Given the description of an element on the screen output the (x, y) to click on. 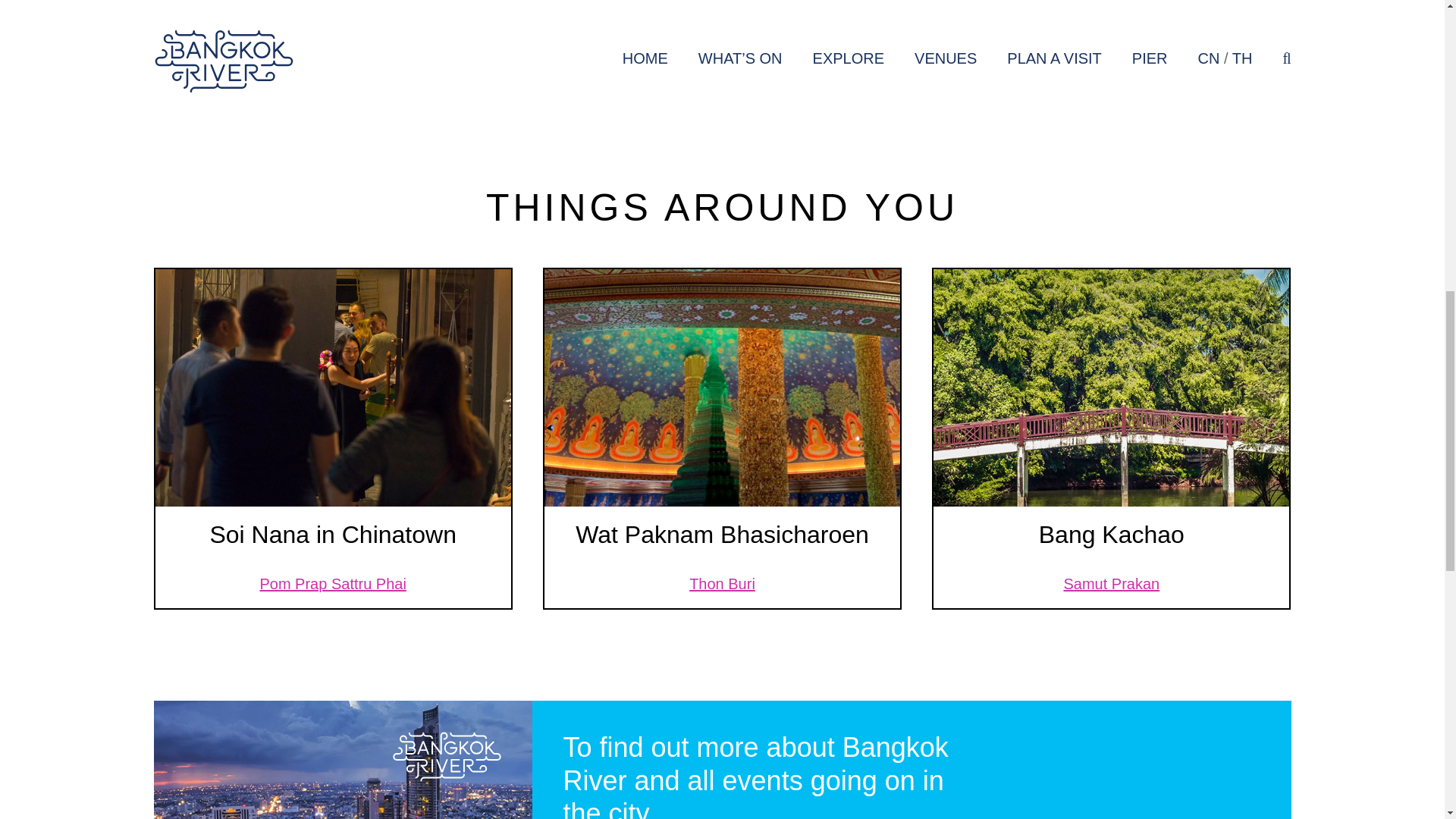
Thon Buri (721, 583)
Pom Prap Sattru Phai (332, 583)
Soi Nana in Chinatown (333, 533)
Email (765, 47)
Wat Paknam Bhasicharoen (722, 533)
Twitter (797, 47)
Bang Kachao (1112, 533)
Facebook (829, 47)
Samut Prakan (1110, 583)
